Given the description of an element on the screen output the (x, y) to click on. 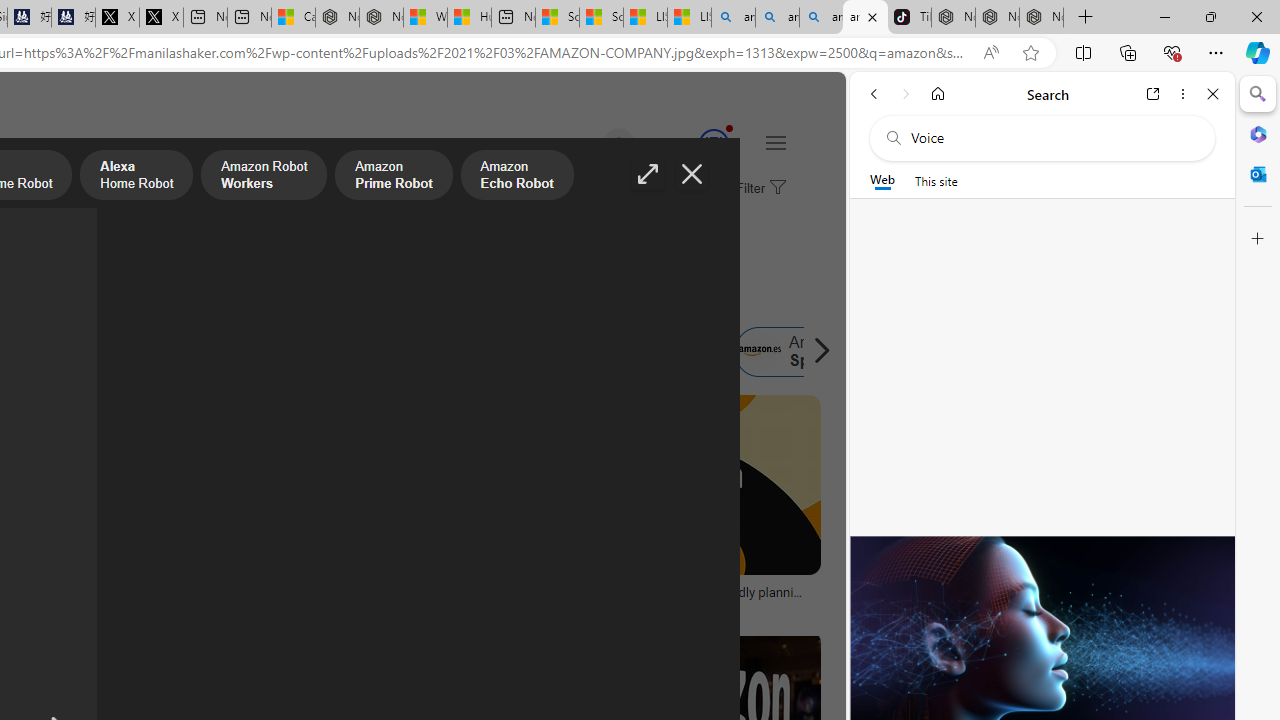
Settings and quick links (775, 142)
Amazon Logo (PNG e SVG) Download Vetorial Transparente (98, 598)
Amazon Echo Robot (516, 177)
Amazon down? Current status and problems | Downdetector (368, 598)
Nordace Siena Pro 15 Backpack (996, 17)
amazon - Search Images (865, 17)
This site scope (936, 180)
Full screen (648, 173)
Amazon.com.au (270, 351)
downdetector.ae (368, 606)
Image result for amazon (685, 485)
